Given the description of an element on the screen output the (x, y) to click on. 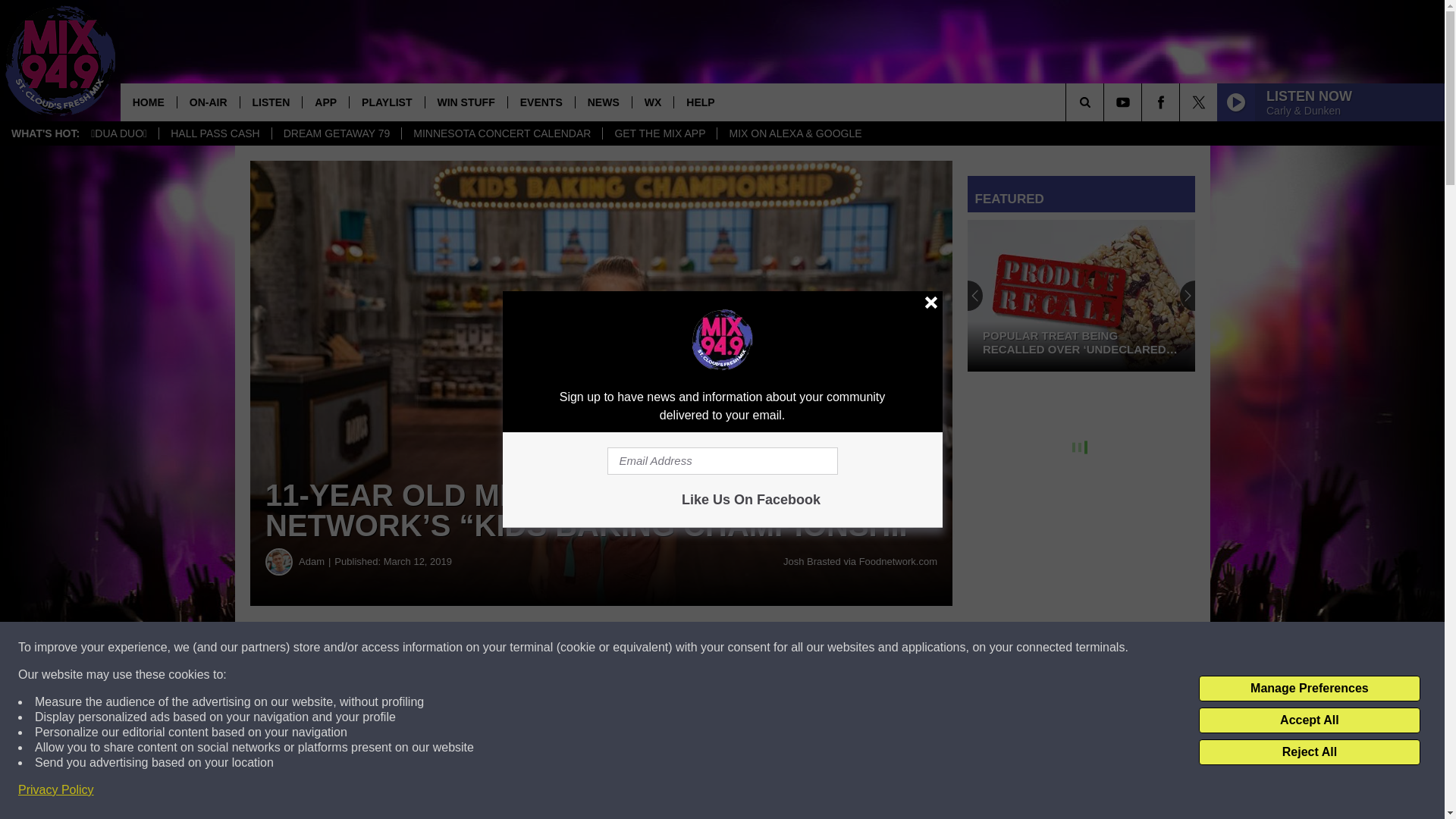
LISTEN (271, 102)
Email Address (722, 461)
ON-AIR (208, 102)
Privacy Policy (55, 789)
EVENTS (540, 102)
HOME (148, 102)
Share on Twitter (741, 647)
DREAM GETAWAY 79 (335, 133)
SEARCH (1106, 102)
PLAYLIST (386, 102)
MINNESOTA CONCERT CALENDAR (501, 133)
Manage Preferences (1309, 688)
Accept All (1309, 720)
Reject All (1309, 751)
SEARCH (1106, 102)
